Given the description of an element on the screen output the (x, y) to click on. 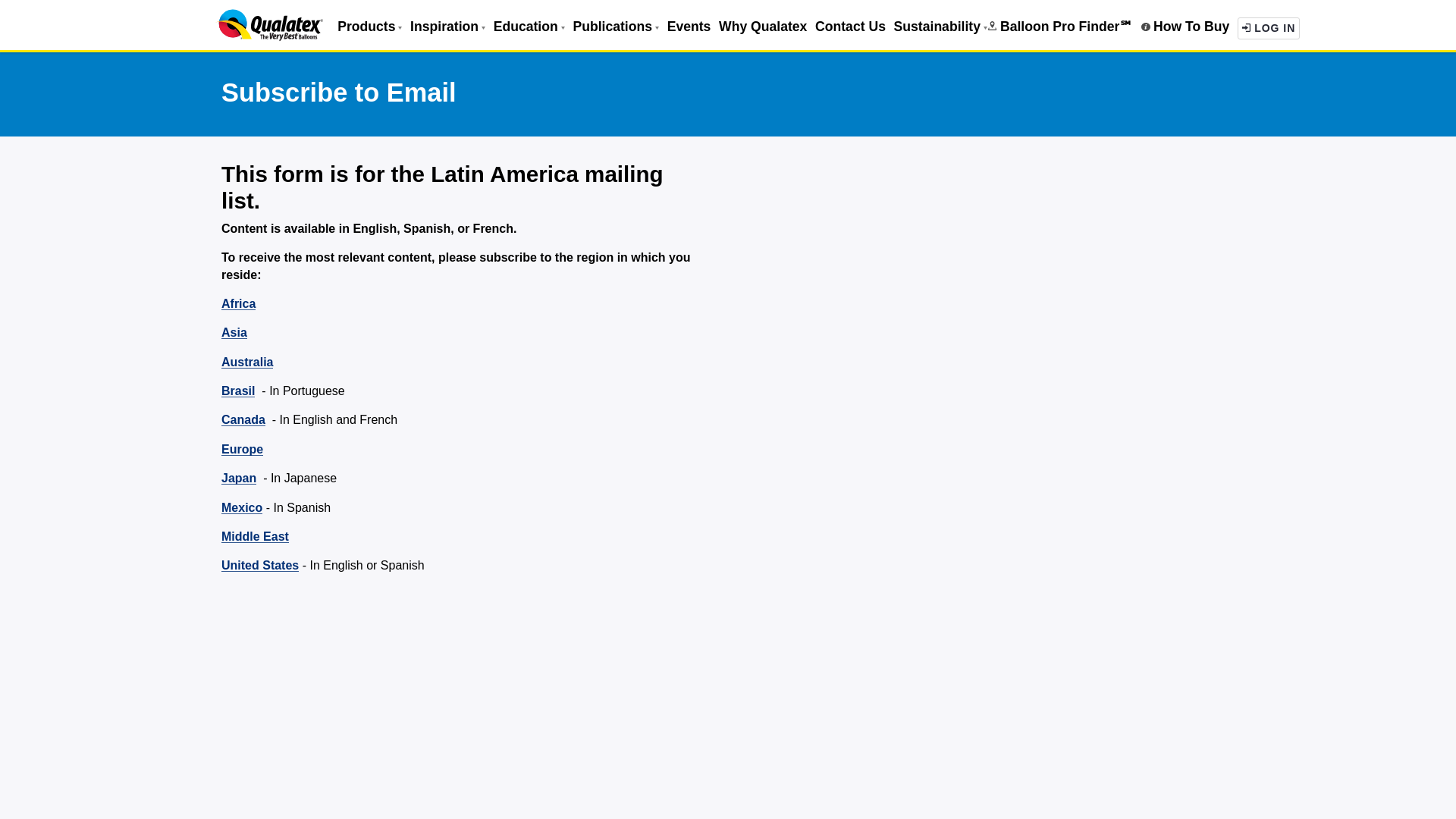
Why Qualatex (762, 26)
Africa (238, 303)
Sustainability (940, 26)
Events (688, 26)
Contact Us (850, 26)
Education (528, 26)
How To Buy (1184, 26)
Inspiration (447, 26)
Products (369, 26)
